Given the description of an element on the screen output the (x, y) to click on. 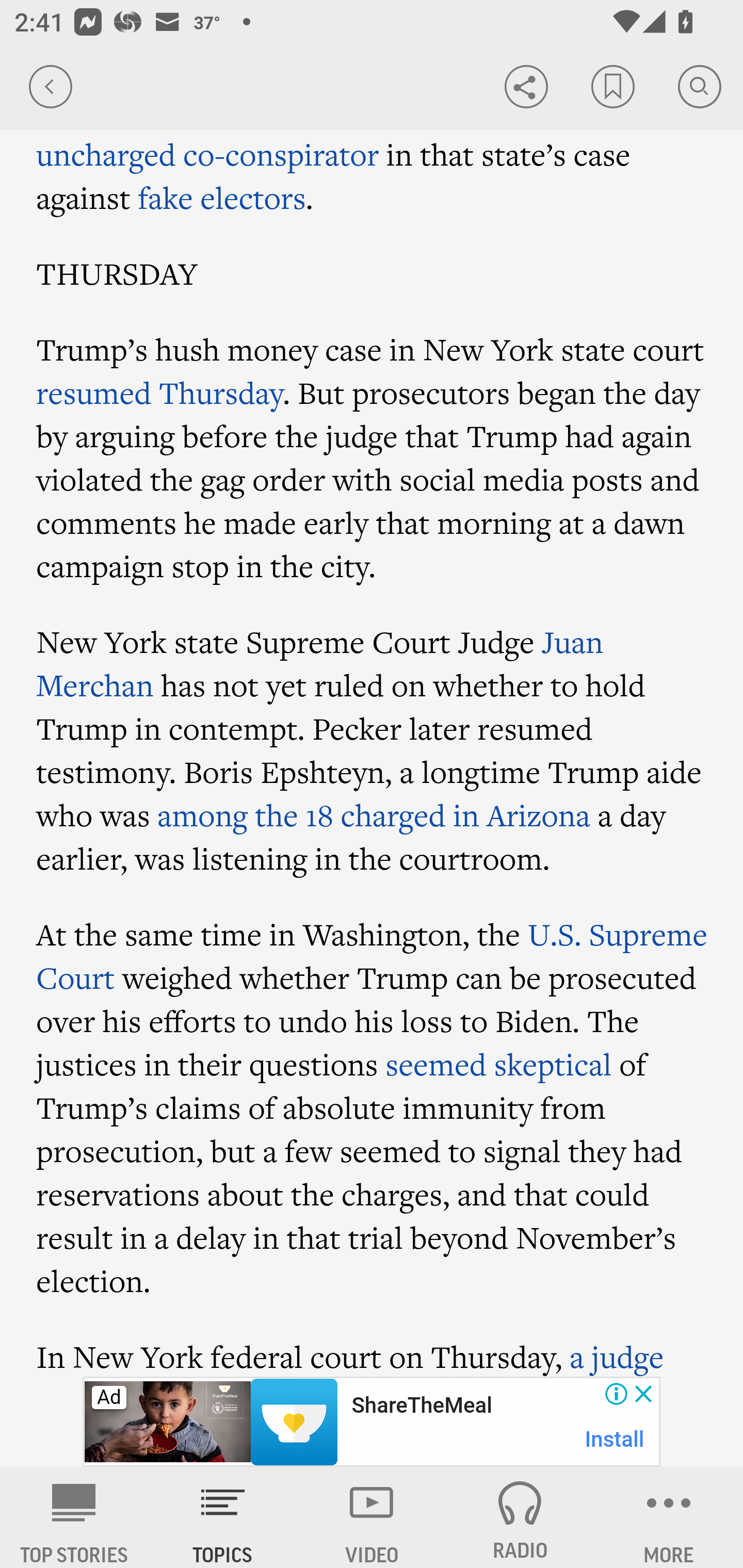
uncharged co-conspirator (208, 154)
fake electors (221, 197)
resumed Thursday (159, 392)
Juan Merchan (320, 663)
among the 18 charged in Arizona (374, 815)
U.S. Supreme Court (372, 955)
seemed skeptical (498, 1063)
a judge rejected (350, 1355)
ShareTheMeal (420, 1405)
Install (614, 1438)
AP News TOP STORIES (74, 1517)
TOPICS (222, 1517)
VIDEO (371, 1517)
RADIO (519, 1517)
MORE (668, 1517)
